Given the description of an element on the screen output the (x, y) to click on. 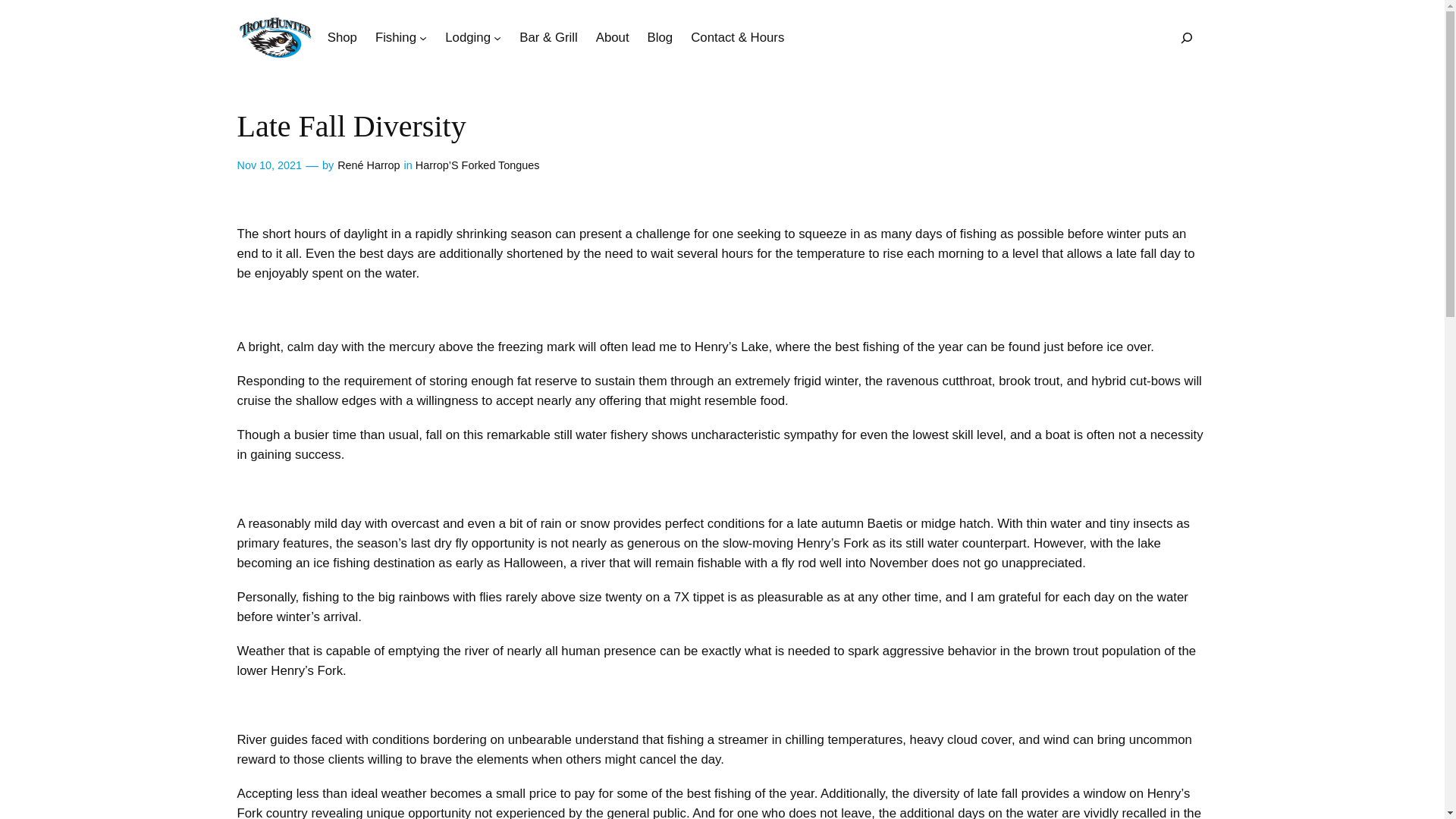
Lodging (467, 37)
Shop (341, 37)
Nov 10, 2021 (268, 164)
Blog (659, 37)
About (611, 37)
Fishing (395, 37)
